Given the description of an element on the screen output the (x, y) to click on. 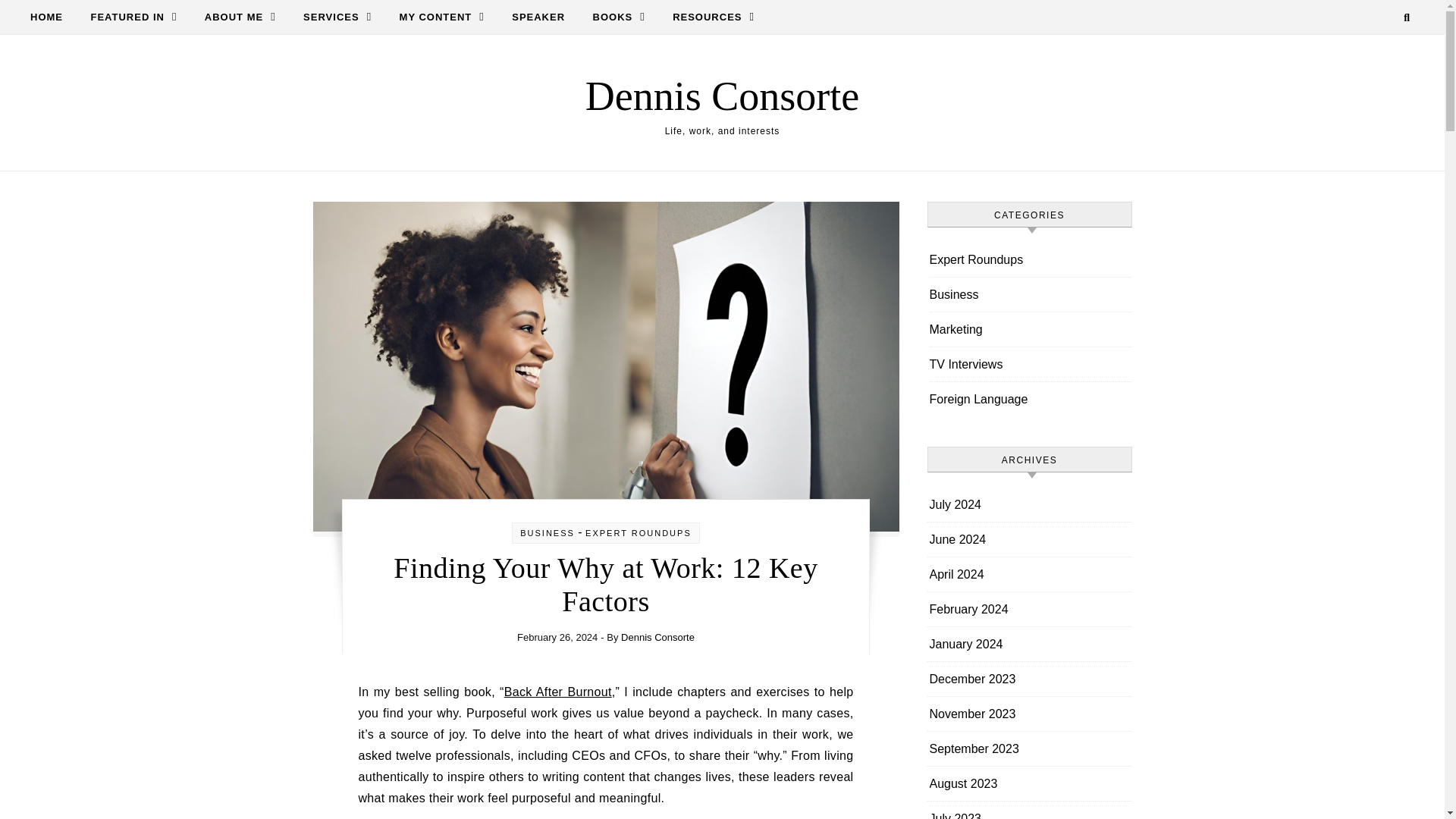
SPEAKER (537, 17)
RESOURCES (707, 17)
BOOKS (619, 17)
MY CONTENT (441, 17)
Posts by Dennis Consorte (657, 636)
HOME (52, 17)
ABOUT ME (240, 17)
FEATURED IN (133, 17)
SERVICES (337, 17)
